Given the description of an element on the screen output the (x, y) to click on. 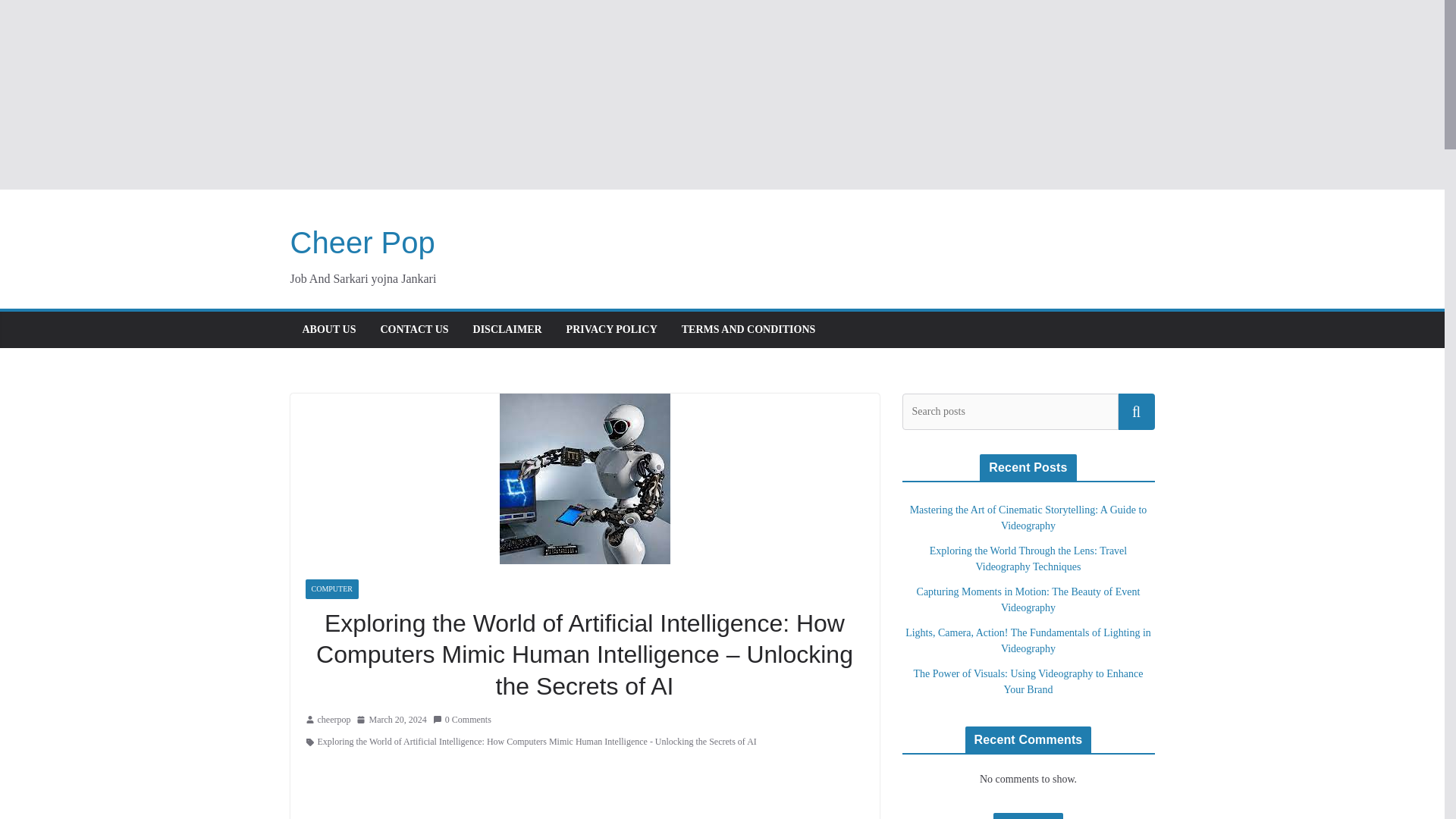
cheerpop (333, 719)
DISCLAIMER (507, 329)
ABOUT US (328, 329)
March 20, 2024 (391, 719)
Cheer Pop (361, 242)
PRIVACY POLICY (612, 329)
Search (1136, 411)
6:31 am (391, 719)
cheerpop (333, 719)
0 Comments (462, 719)
CONTACT US (414, 329)
TERMS AND CONDITIONS (748, 329)
Capturing Moments in Motion: The Beauty of Event Videography (1028, 599)
